Given the description of an element on the screen output the (x, y) to click on. 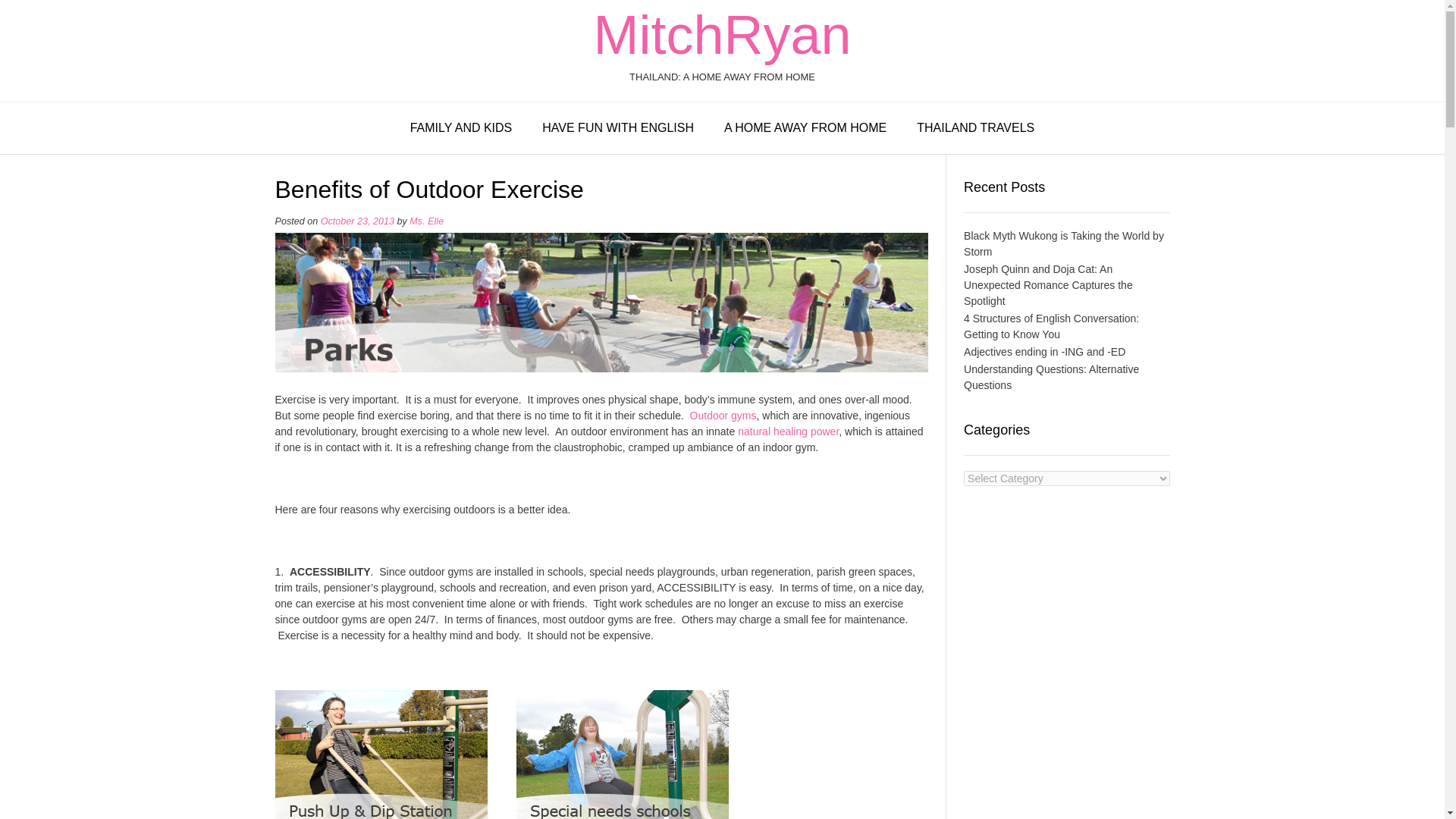
Ms. Elle (426, 221)
natural healing power (788, 431)
THAILAND TRAVELS (975, 128)
Vis Medicatrix naturae (788, 431)
MitchRyan (721, 34)
FAMILY AND KIDS (460, 128)
HAVE FUN WITH ENGLISH (618, 128)
Fresh air fitness  (723, 415)
Outdoor gyms (723, 415)
October 23, 2013 (357, 221)
